Given the description of an element on the screen output the (x, y) to click on. 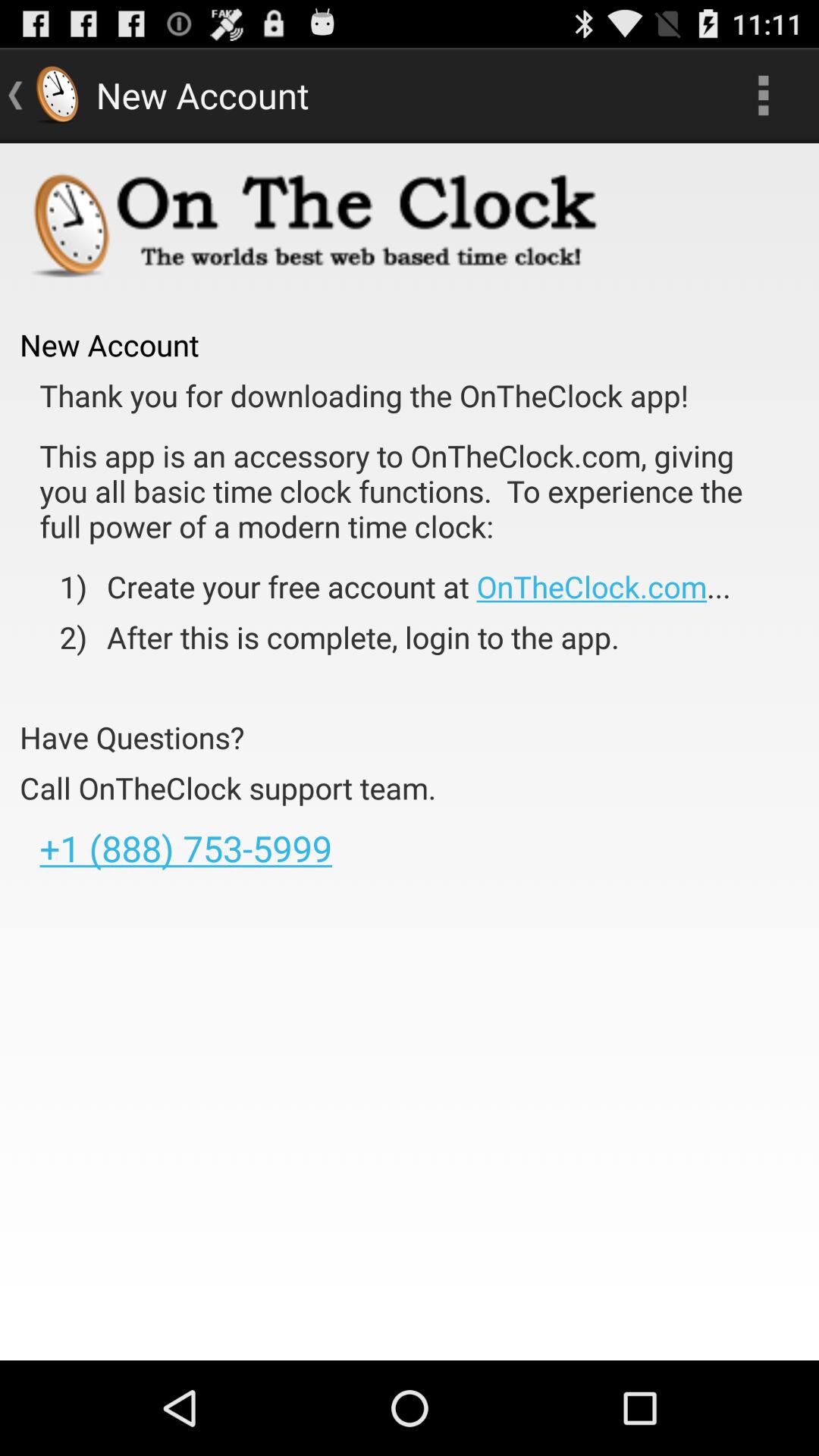
launch icon above the 1 888 753 app (227, 787)
